Given the description of an element on the screen output the (x, y) to click on. 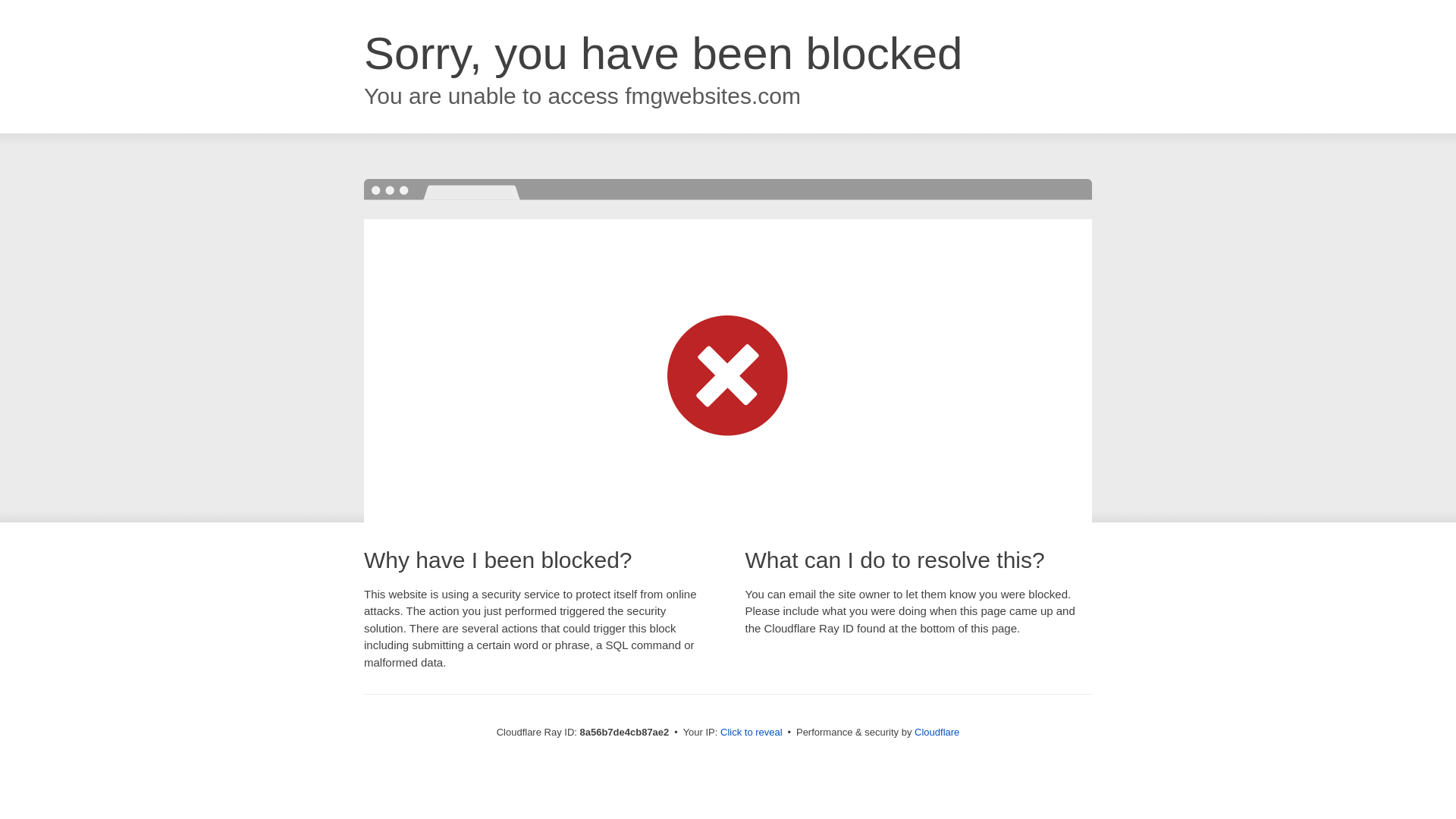
Cloudflare (936, 731)
Click to reveal (751, 732)
